Given the description of an element on the screen output the (x, y) to click on. 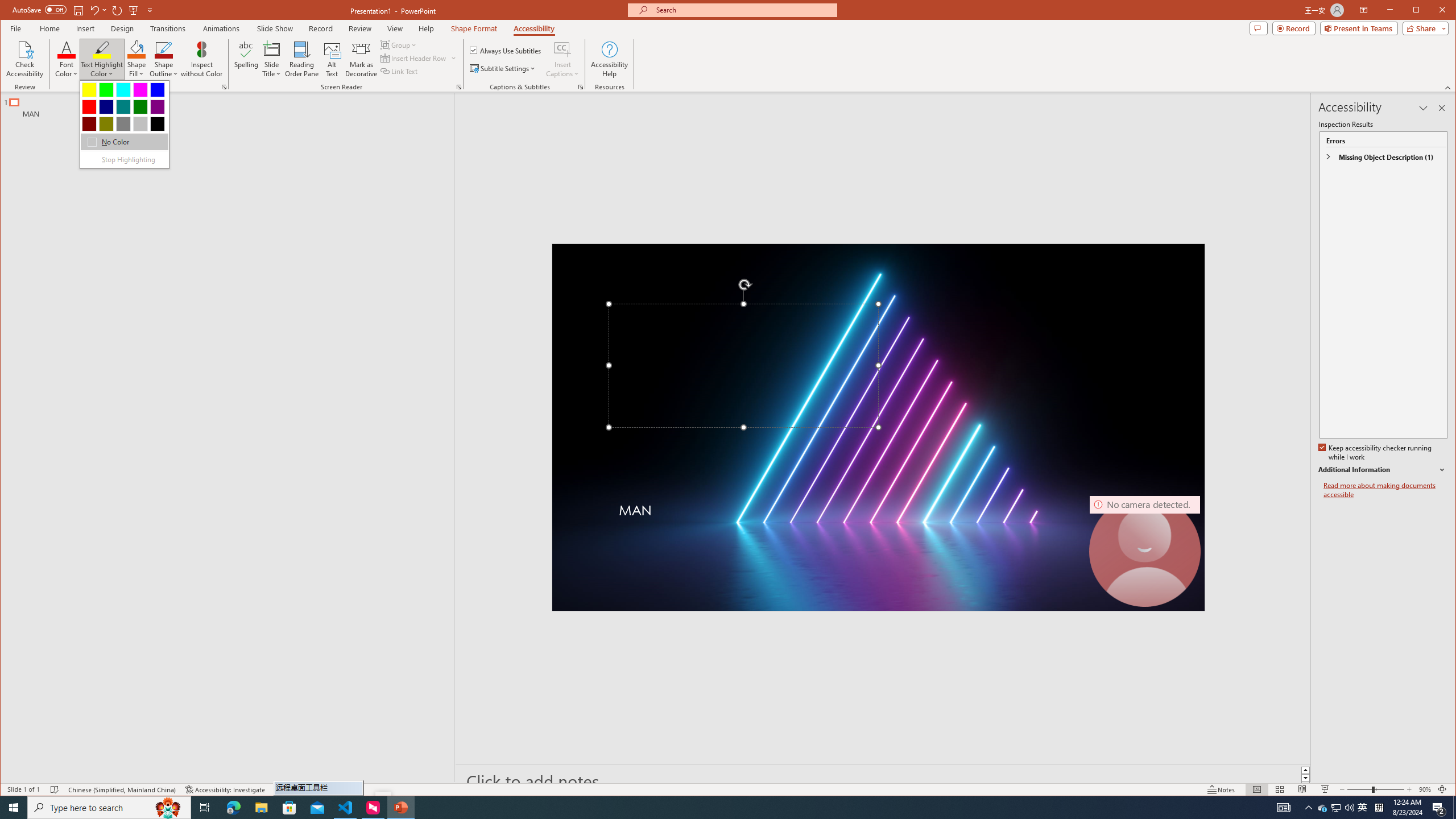
Text Highlight Color No Color (102, 48)
Captions & Subtitles (580, 86)
Running applications (700, 807)
Insert Captions (562, 48)
